Given the description of an element on the screen output the (x, y) to click on. 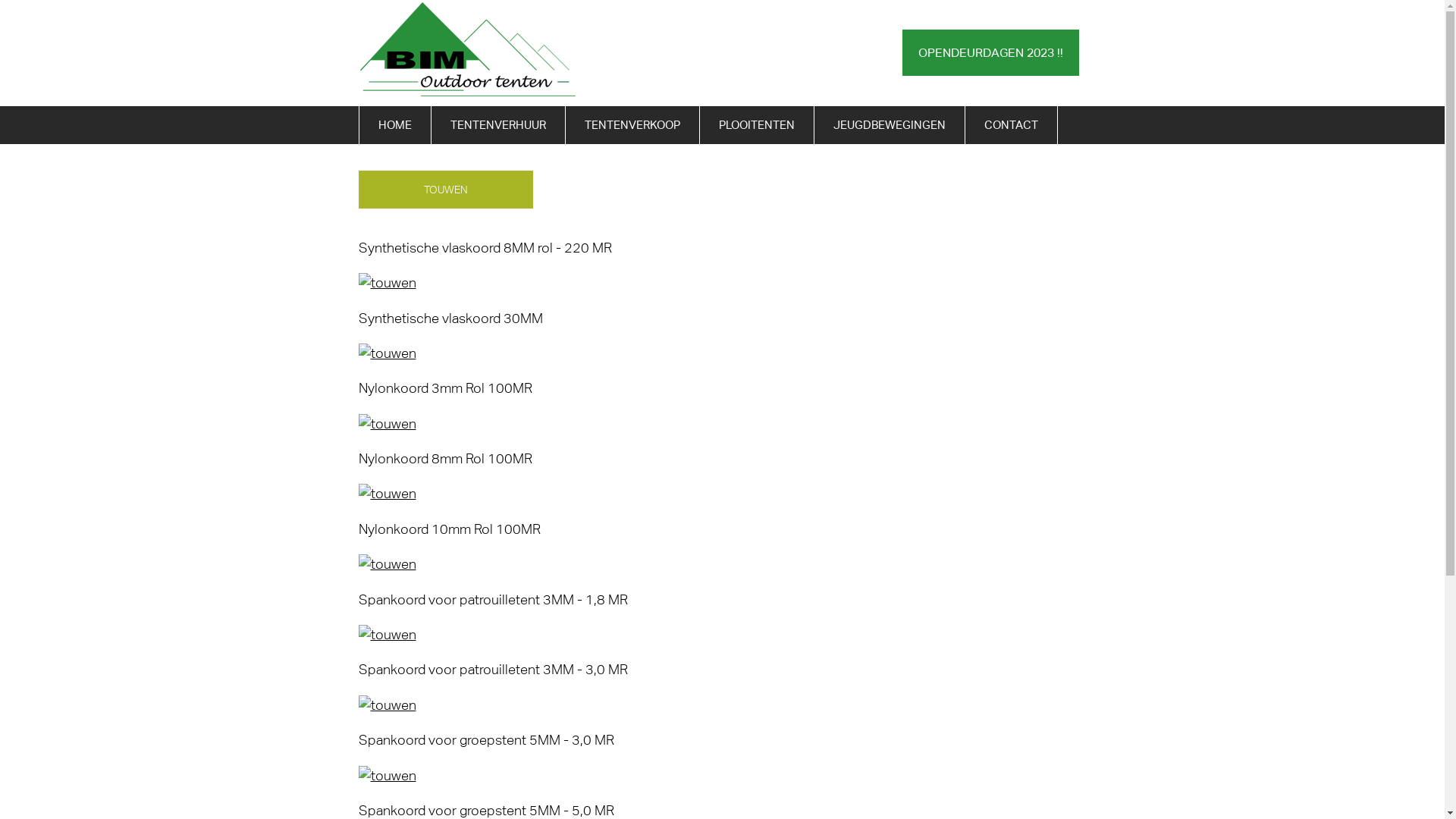
HOME Element type: text (394, 125)
CONTACT Element type: text (1010, 125)
JEUGDBEWEGINGEN Element type: text (889, 125)
TENTENVERKOOP Element type: text (632, 125)
PLOOITENTEN Element type: text (755, 125)
OPENDEURDAGEN 2023 !! Element type: text (990, 52)
TENTENVERHUUR Element type: text (497, 125)
